Given the description of an element on the screen output the (x, y) to click on. 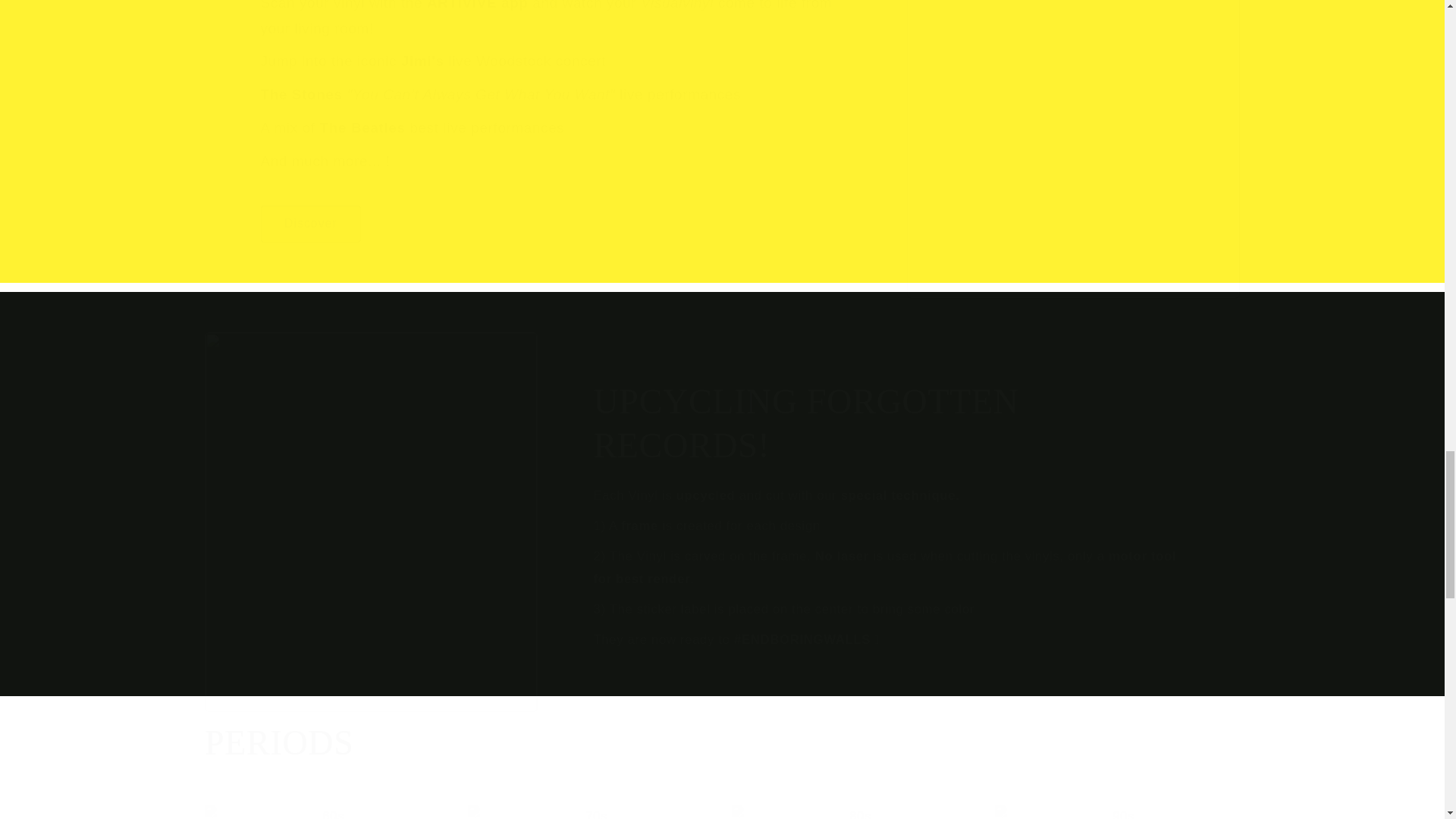
80s (852, 812)
PERIODS (279, 743)
60s (327, 812)
70s (590, 812)
90s (1117, 812)
